Given the description of an element on the screen output the (x, y) to click on. 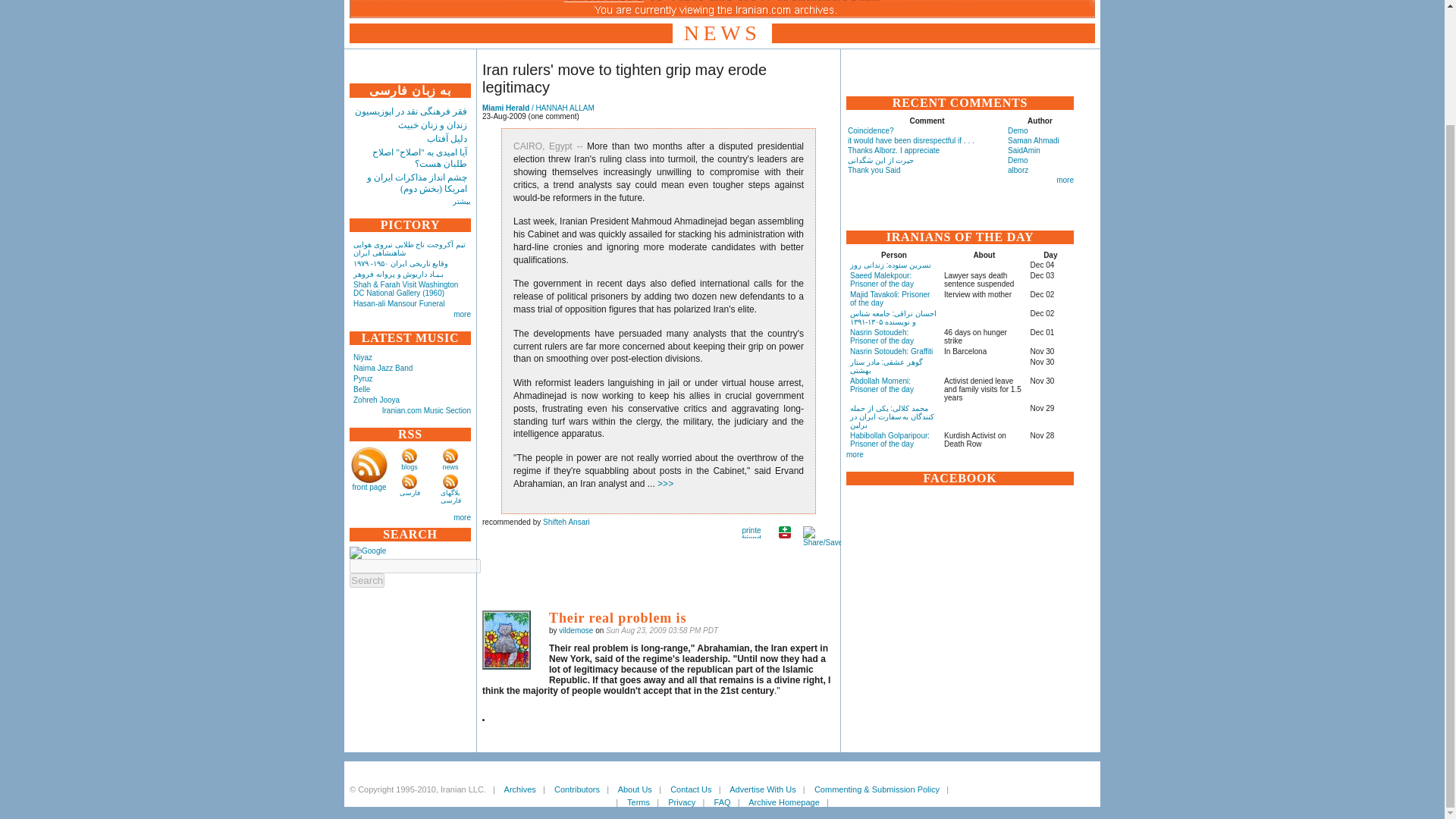
Search (366, 580)
Google (367, 552)
front page (368, 487)
vildemose (506, 639)
Pyruz (362, 378)
Naima Jazz Band (382, 367)
more (461, 314)
news (450, 466)
blogs (409, 466)
View user profile. (575, 630)
Belle (361, 388)
Zohreh Jooya (375, 399)
Hasan-ali Mansour Funeral (399, 303)
printer friendly (750, 532)
Niyaz (362, 356)
